Given the description of an element on the screen output the (x, y) to click on. 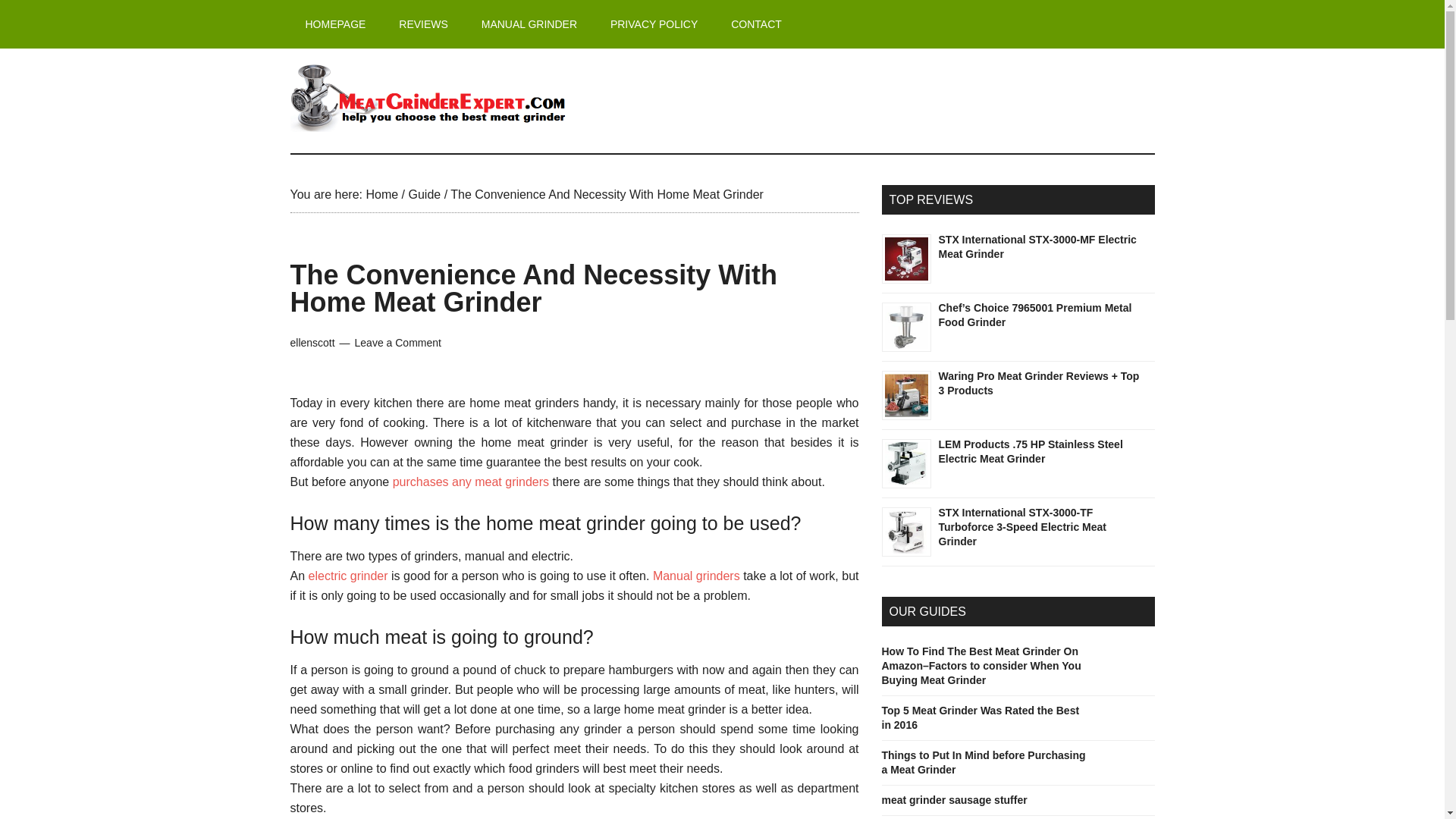
PRIVACY POLICY (654, 24)
ellenscott (311, 342)
Leave a Comment (398, 342)
STX International STX-3000-MF Electric Meat Grinder (905, 258)
Manual grinders (695, 575)
purchases any meat grinders (470, 481)
Things to Put In Mind before Purchasing a Meat Grinder (982, 762)
HOMEPAGE (334, 24)
